Given the description of an element on the screen output the (x, y) to click on. 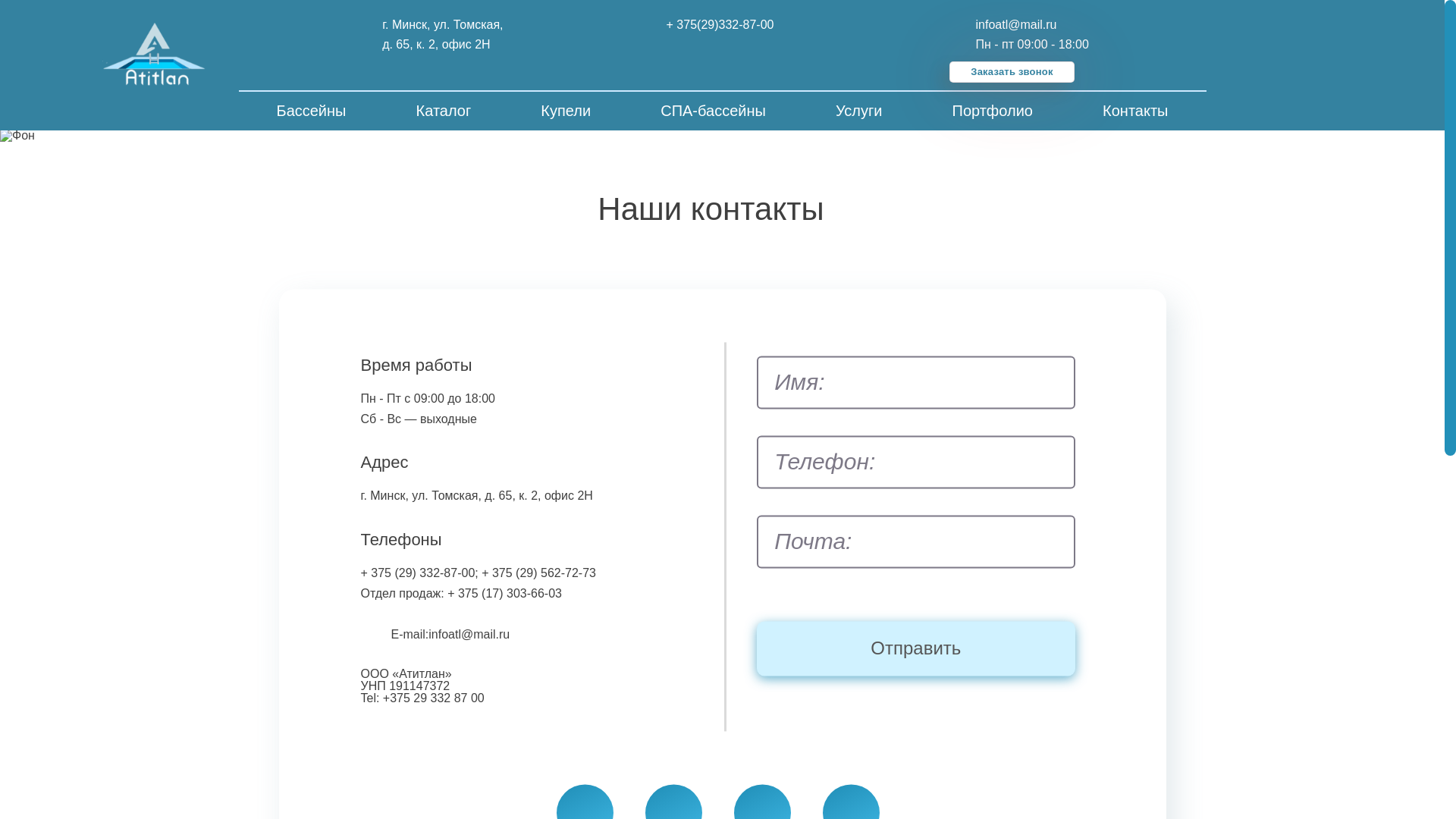
+ 375(29)332-87-00 Element type: text (726, 24)
infoatl@mail.ru Element type: text (1018, 24)
infoatl@mail.ru Element type: text (468, 634)
+ 375 (29) 562-72-73 Element type: text (538, 572)
+ 375 (29) 332-87-00 Element type: text (417, 572)
E-mail: Element type: text (410, 634)
+ 375 (17) 303-66-03 Element type: text (504, 592)
